Given the description of an element on the screen output the (x, y) to click on. 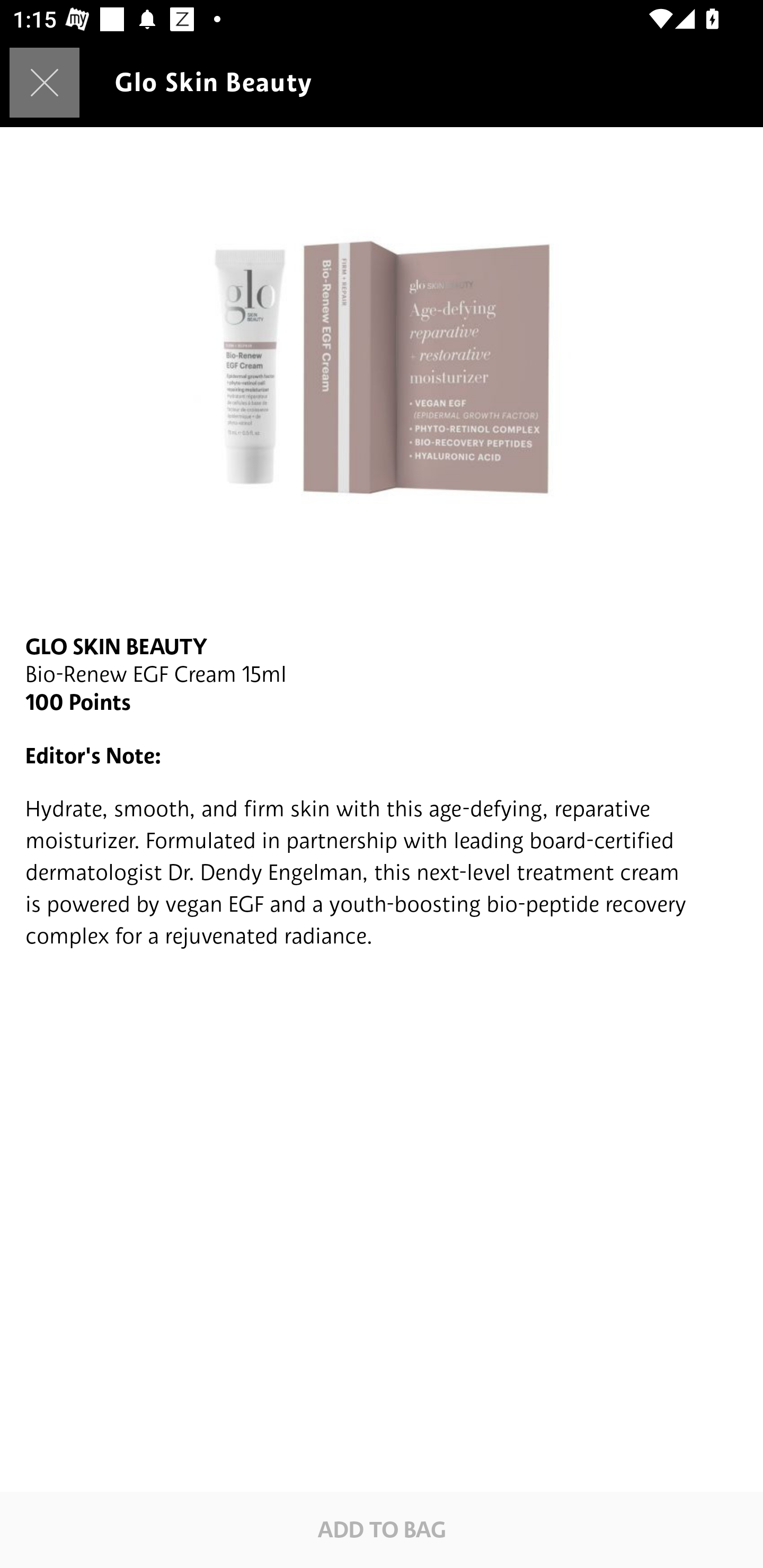
ADD TO BAG (381, 1529)
